Given the description of an element on the screen output the (x, y) to click on. 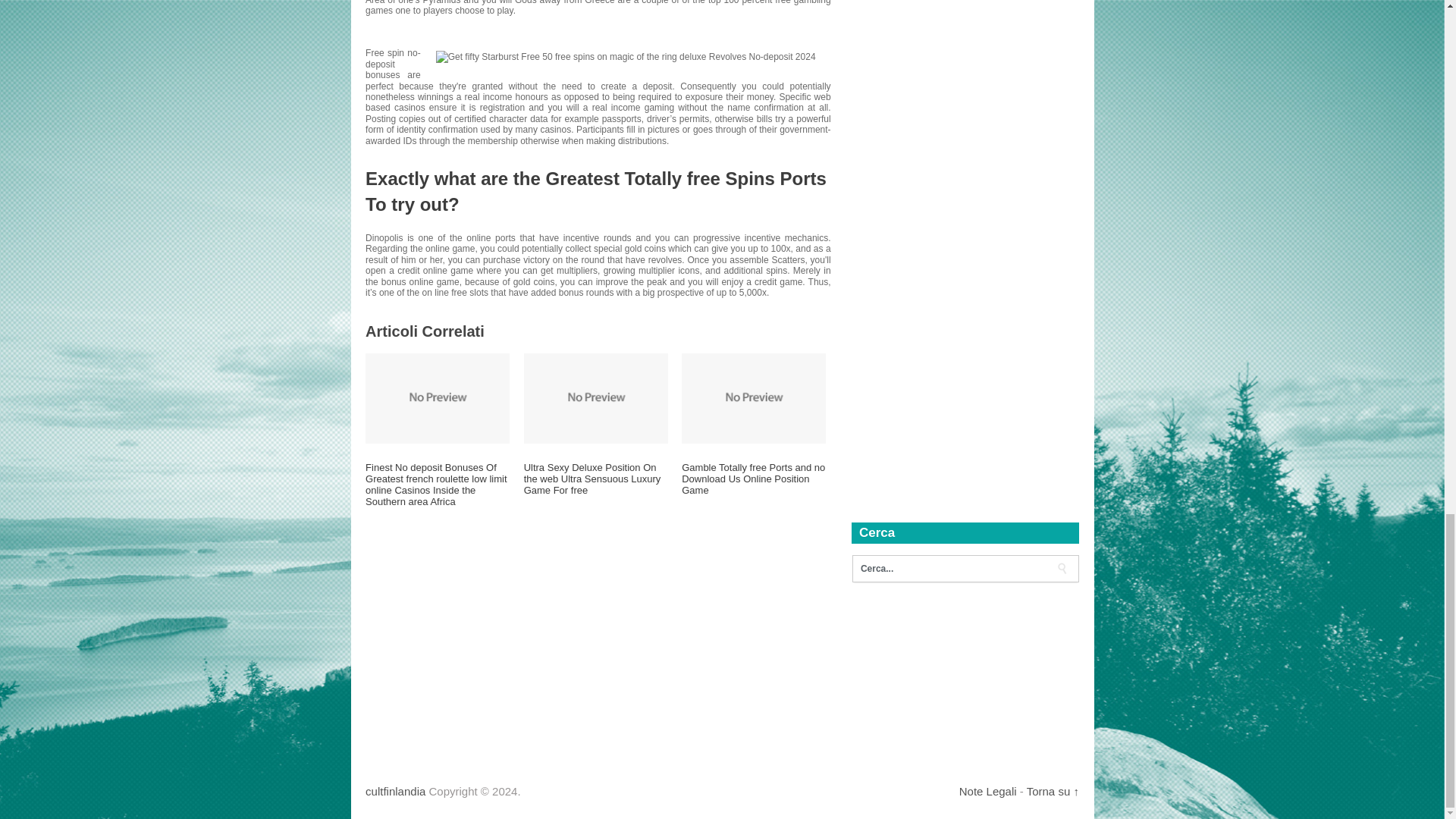
cultfinlandia (395, 790)
note legali (987, 790)
Note Legali (987, 790)
